Given the description of an element on the screen output the (x, y) to click on. 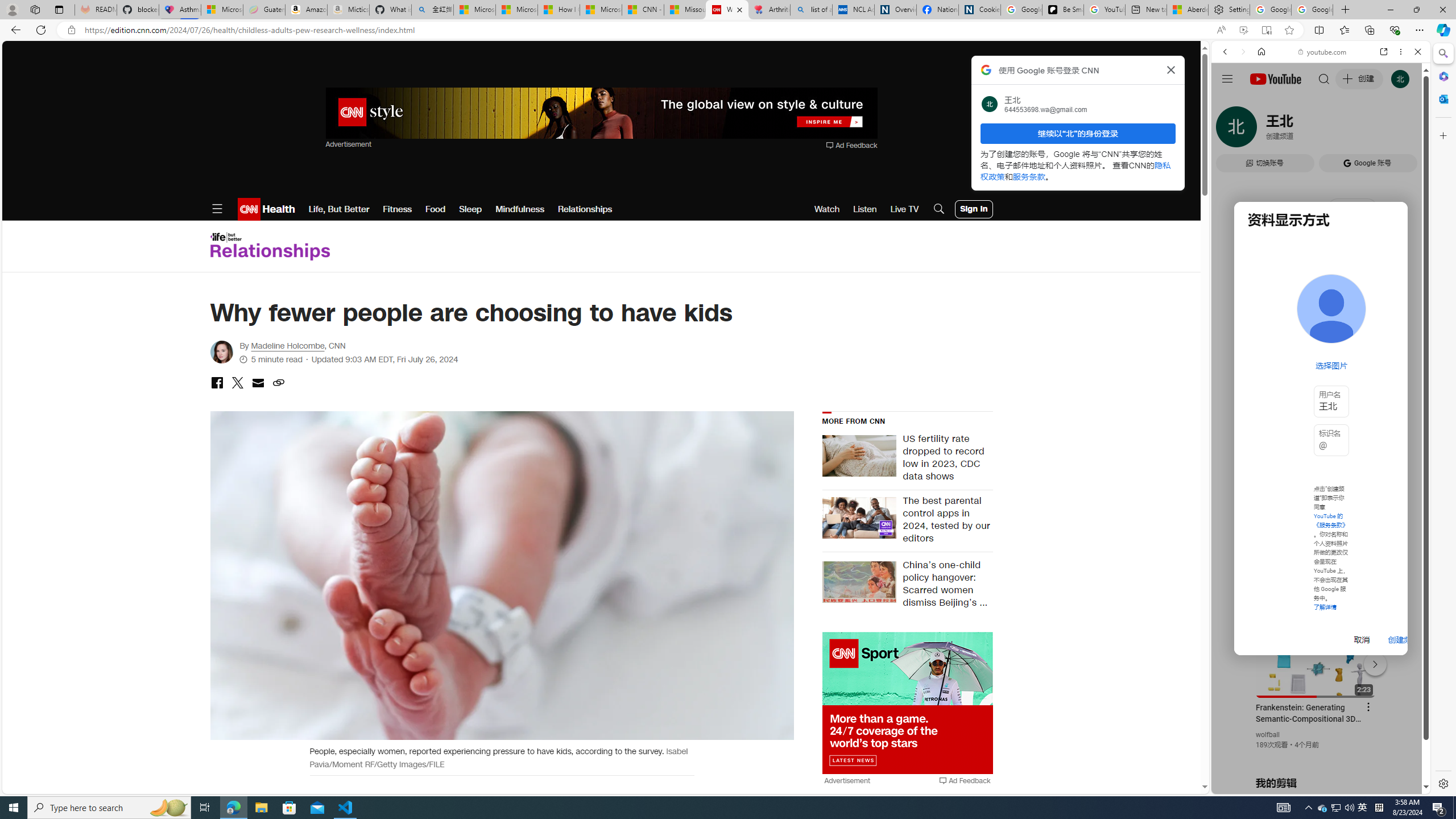
copy link to clipboard (277, 383)
User Account Log In Button (973, 208)
Why fewer people are choosing to have kids | CNN (726, 9)
Live TV (903, 208)
